Given the description of an element on the screen output the (x, y) to click on. 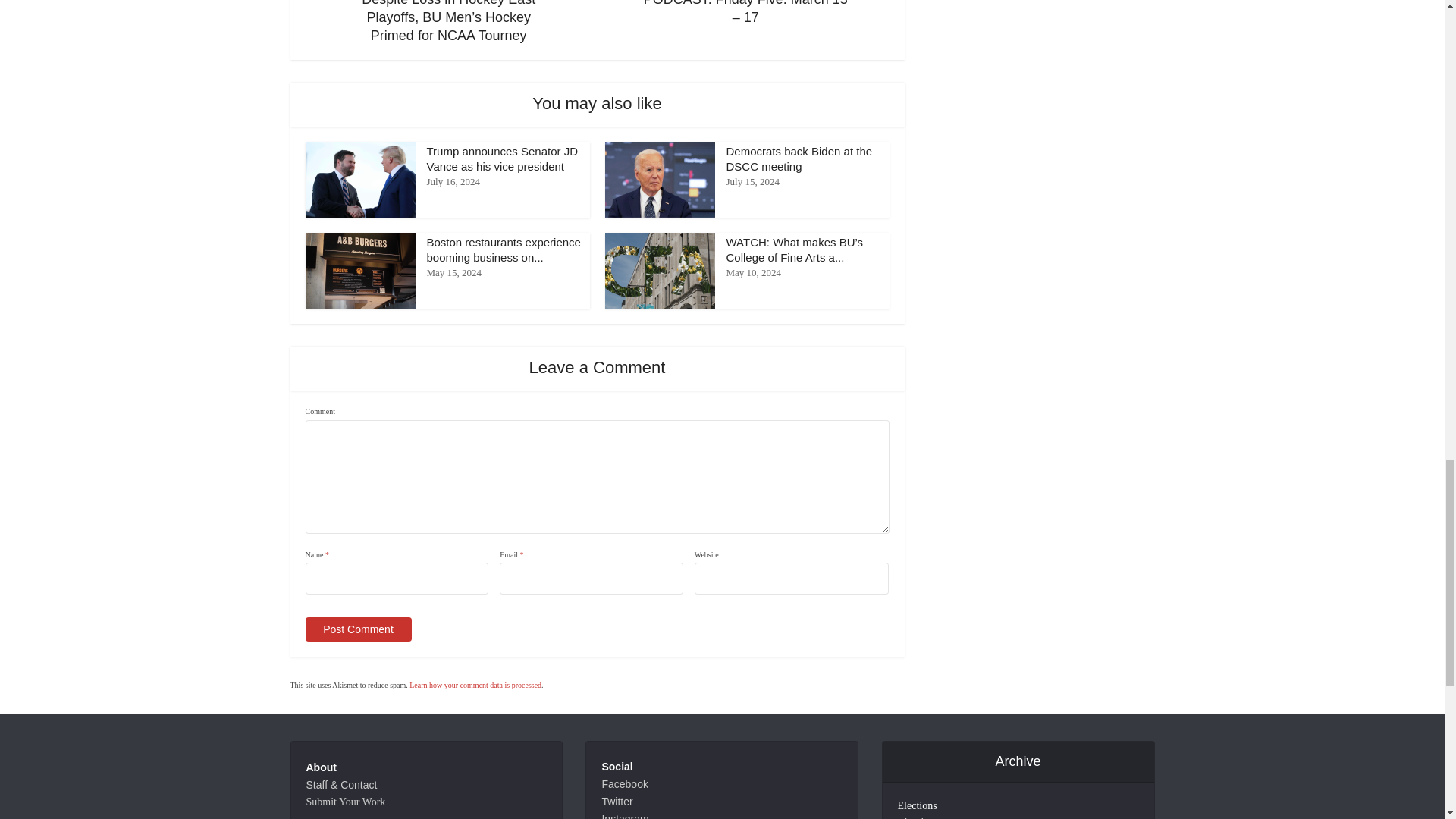
Democrats back Biden at the DSCC meeting (799, 158)
Post Comment (357, 629)
Trump announces Senator JD Vance as his vice president (502, 158)
